Given the description of an element on the screen output the (x, y) to click on. 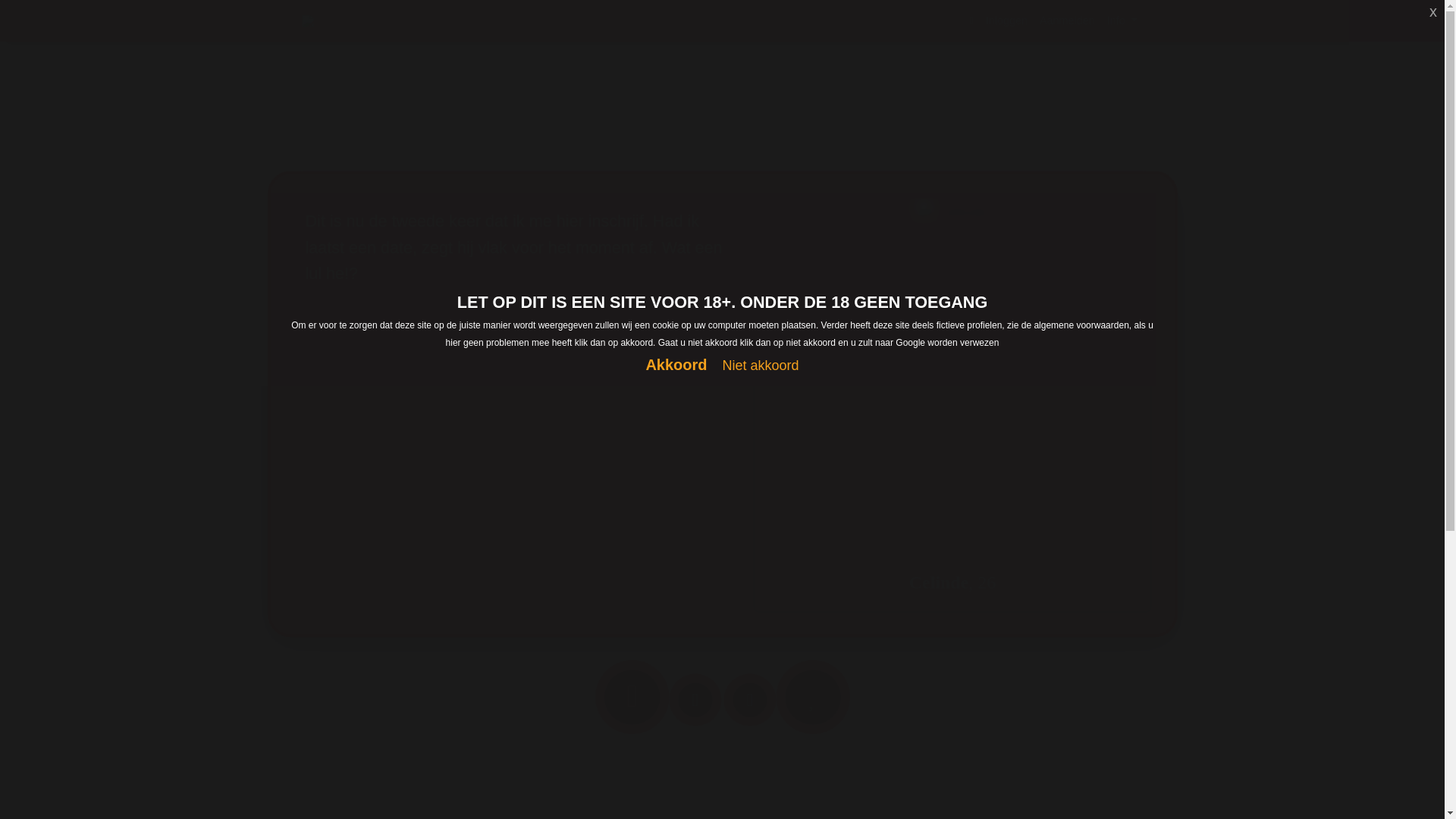
Akkoord Element type: text (675, 364)
Aanmelden Element type: text (1067, 20)
Niet akkoord Element type: text (760, 365)
Inloggen Element type: text (1006, 20)
Info Element type: text (1122, 20)
x Element type: text (1432, 11)
(current) Element type: text (971, 20)
